Given the description of an element on the screen output the (x, y) to click on. 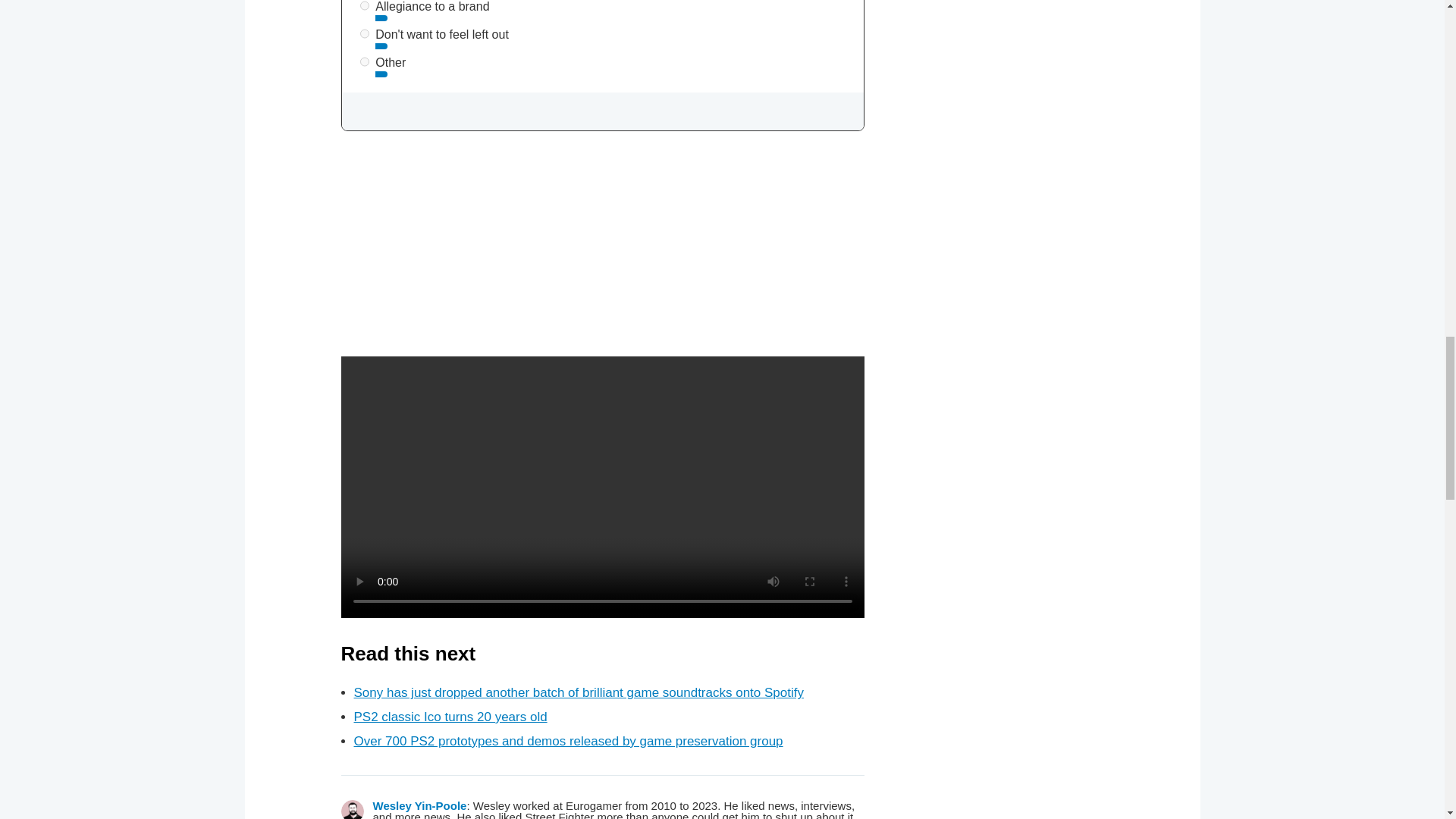
on (364, 5)
PS2 classic Ico turns 20 years old (450, 716)
on (364, 61)
Wesley Yin-Poole (419, 805)
on (364, 33)
